Given the description of an element on the screen output the (x, y) to click on. 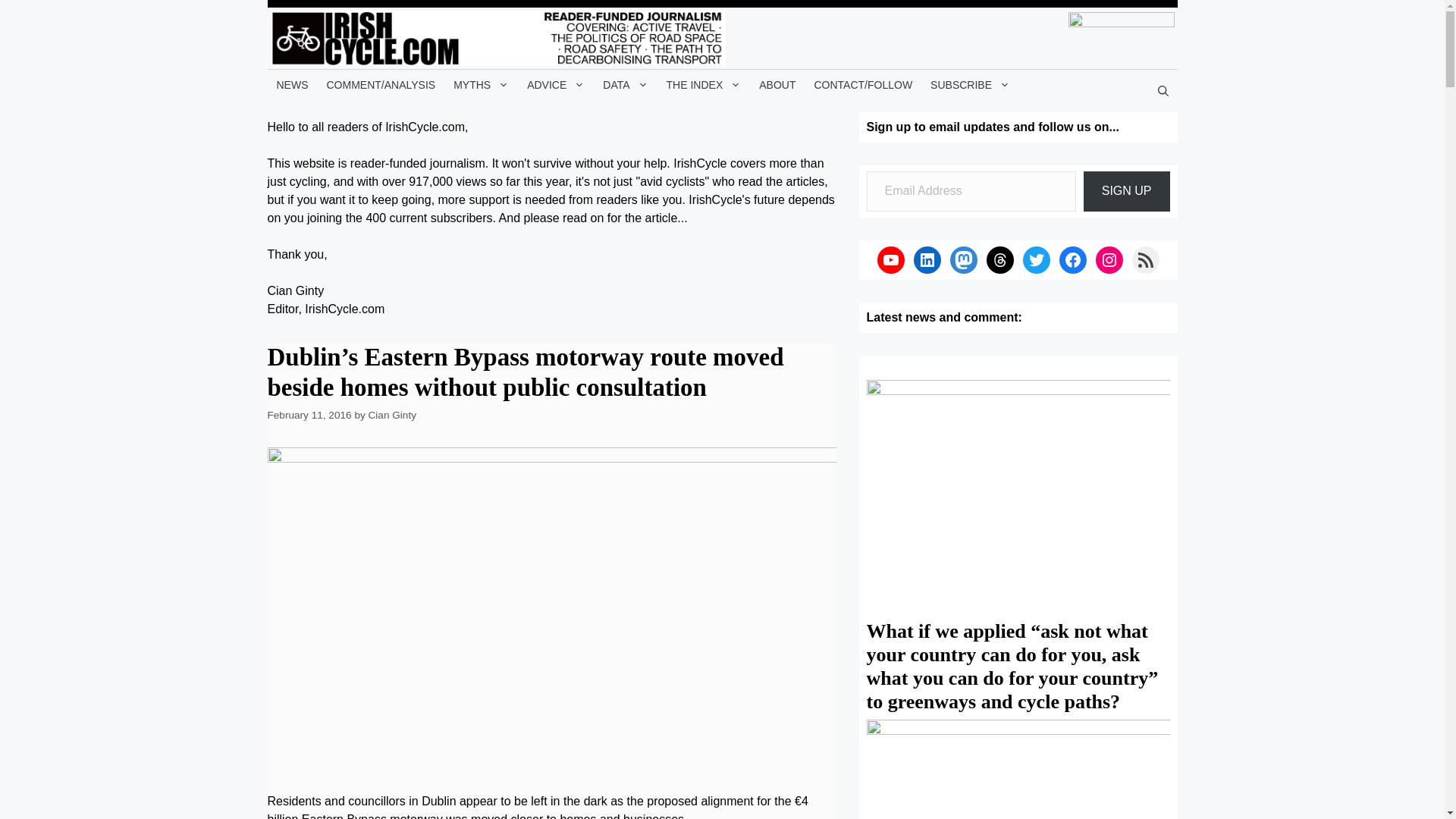
Cian Ginty (392, 414)
more support is needed from readers like you. (561, 199)
NEWS (291, 84)
THE INDEX (704, 84)
SUBSCRIBE (970, 84)
MYTHS (481, 84)
ADVICE (556, 84)
View all posts by Cian Ginty (392, 414)
DATA (625, 84)
ABOUT (777, 84)
